Given the description of an element on the screen output the (x, y) to click on. 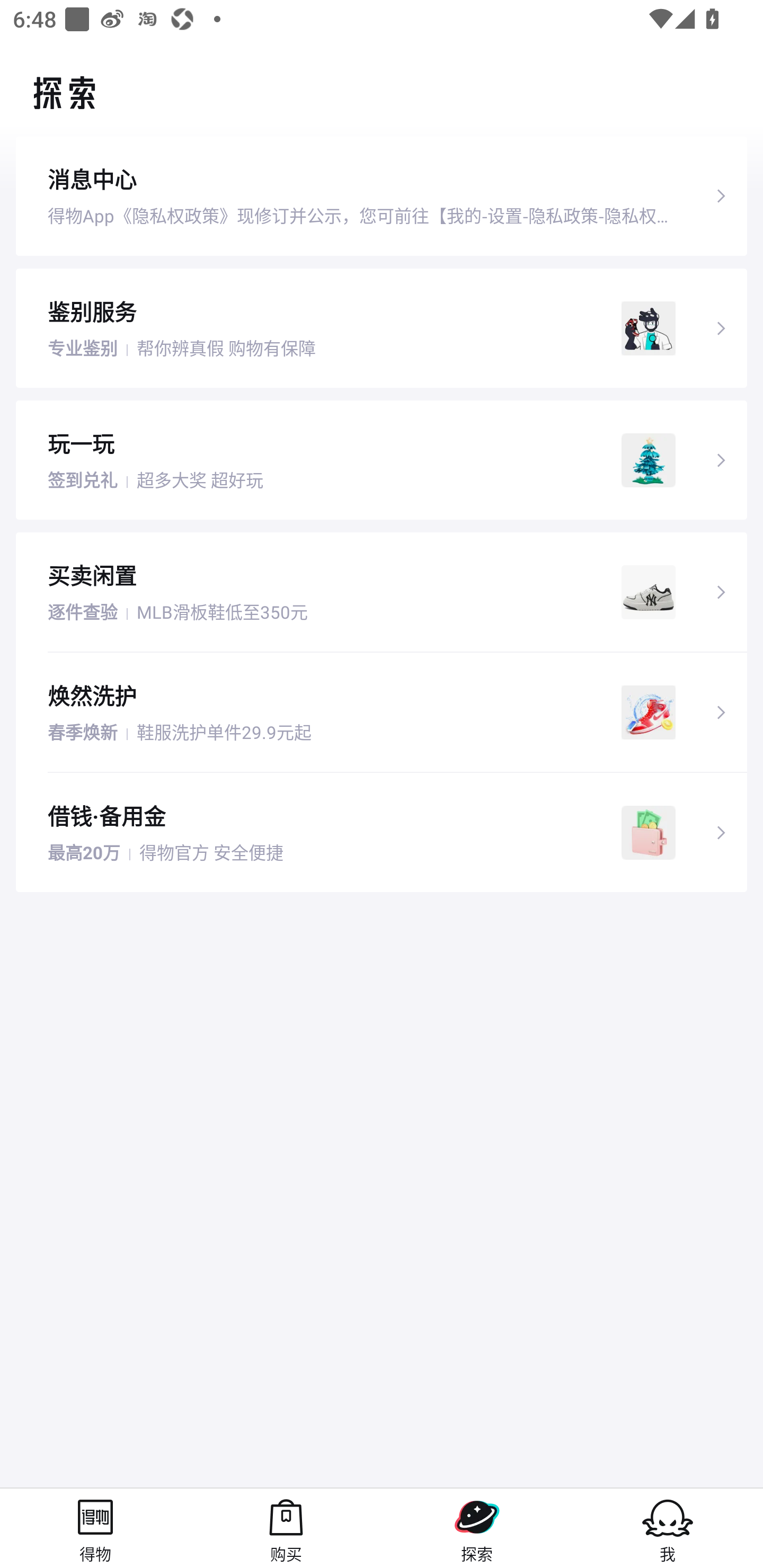
鉴别服务 专业鉴别 丨 帮你辨真假 购物有保障 (381, 327)
玩一玩 签到兑礼 丨 超多大奖 超好玩 (381, 459)
买卖闲置 逐件查验 丨 MLB滑板鞋低至350元 (381, 592)
焕然洗护 春季焕新 丨 鞋服洗护单件29.9元起 (381, 711)
借钱·备用金 最高20万 丨 得物官方 安全便捷 (381, 832)
得物 (95, 1528)
购买 (285, 1528)
探索 (476, 1528)
我 (667, 1528)
